Given the description of an element on the screen output the (x, y) to click on. 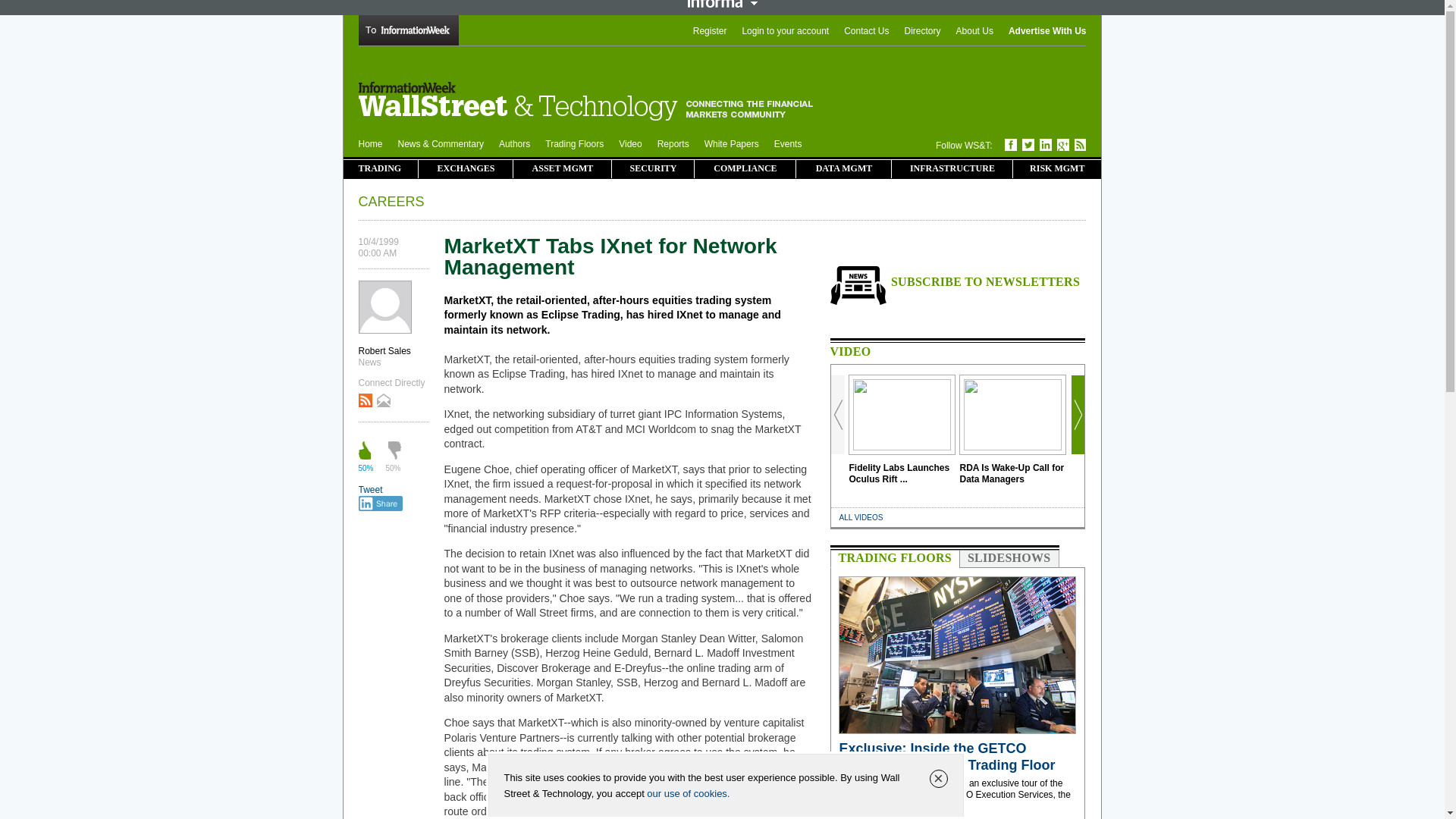
Directory (922, 30)
Directory (922, 30)
Register (709, 30)
Register (709, 30)
Advertise With Us (1047, 30)
About Us (974, 30)
Login (784, 30)
About Us (974, 30)
Login to your account (784, 30)
Contact Us (866, 30)
our use of cookies. (687, 793)
InformationWeek Home (408, 41)
Informa (722, 3)
Advertise With Us (1047, 30)
Contact Us (866, 30)
